Given the description of an element on the screen output the (x, y) to click on. 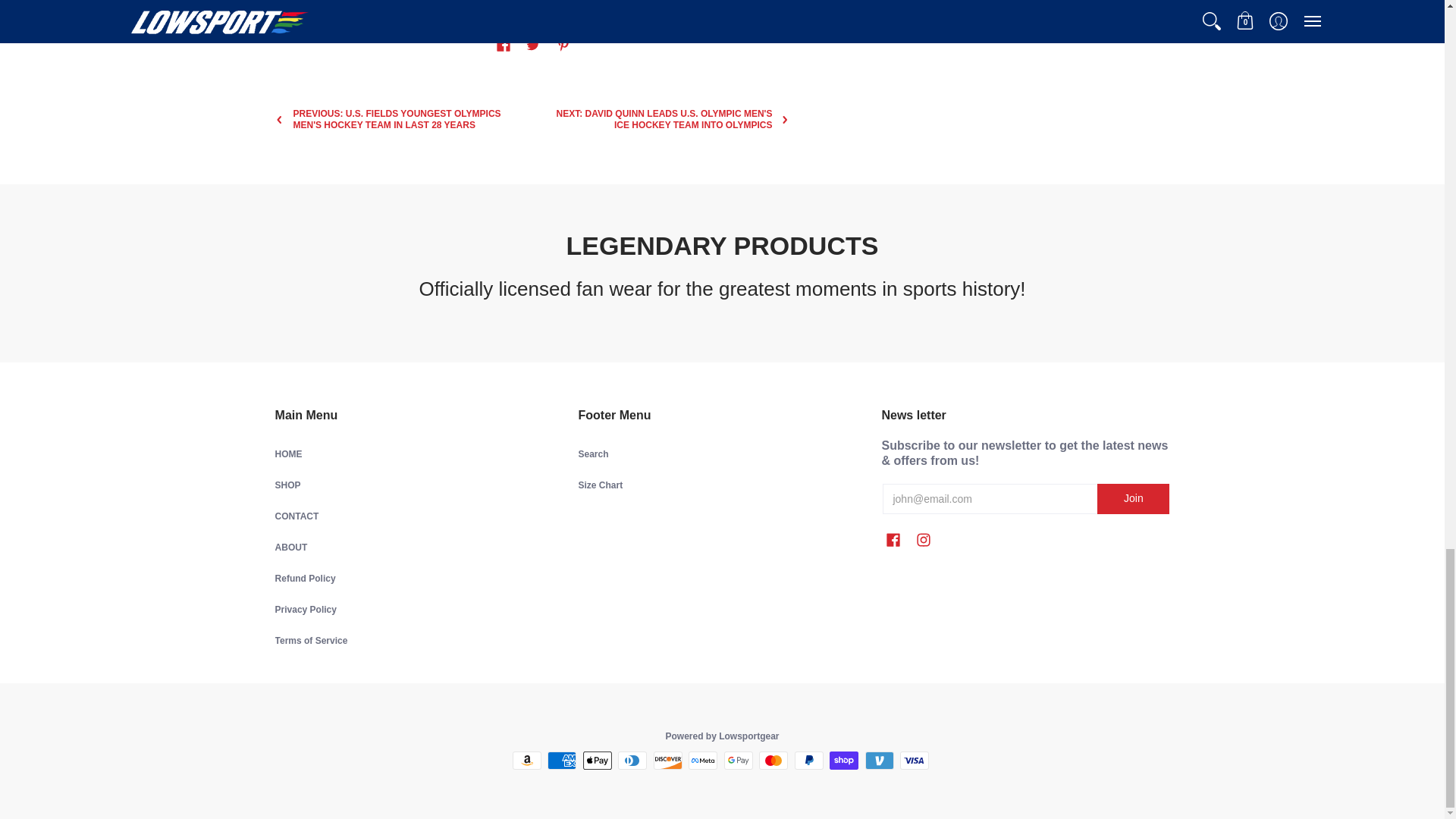
Apple Pay (597, 760)
PayPal (809, 760)
Mastercard (772, 760)
Shop Pay (844, 760)
Google Pay (737, 760)
Meta Pay (702, 760)
Join (1133, 499)
American Express (561, 760)
Diners Club (631, 760)
Discover (667, 760)
Amazon (526, 760)
